Given the description of an element on the screen output the (x, y) to click on. 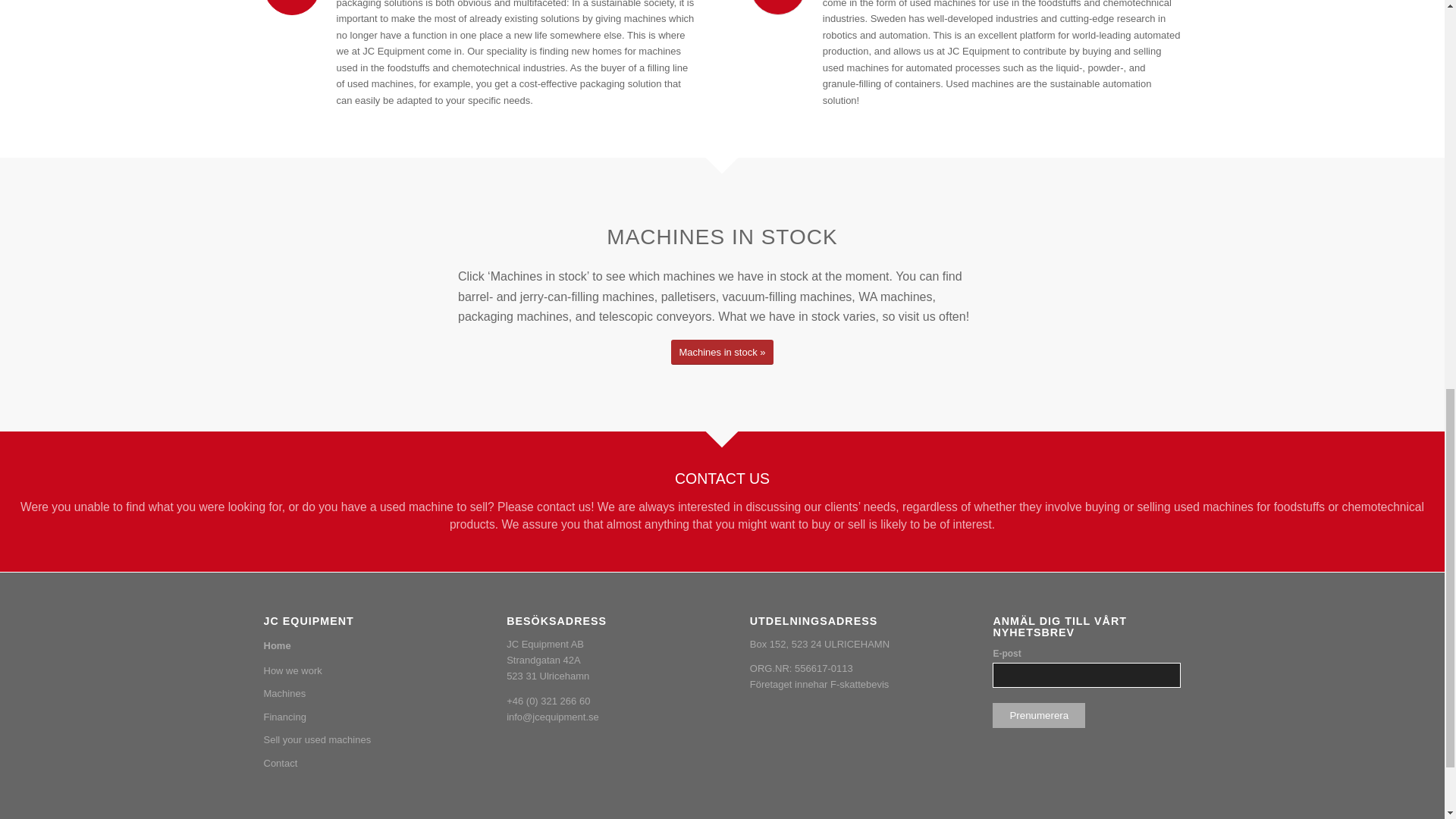
Home (357, 646)
Contact (357, 763)
Machines (357, 693)
Prenumerera (1038, 715)
Financing (357, 716)
Sell your used machines (357, 739)
How we work (357, 671)
Prenumerera (1038, 715)
